Given the description of an element on the screen output the (x, y) to click on. 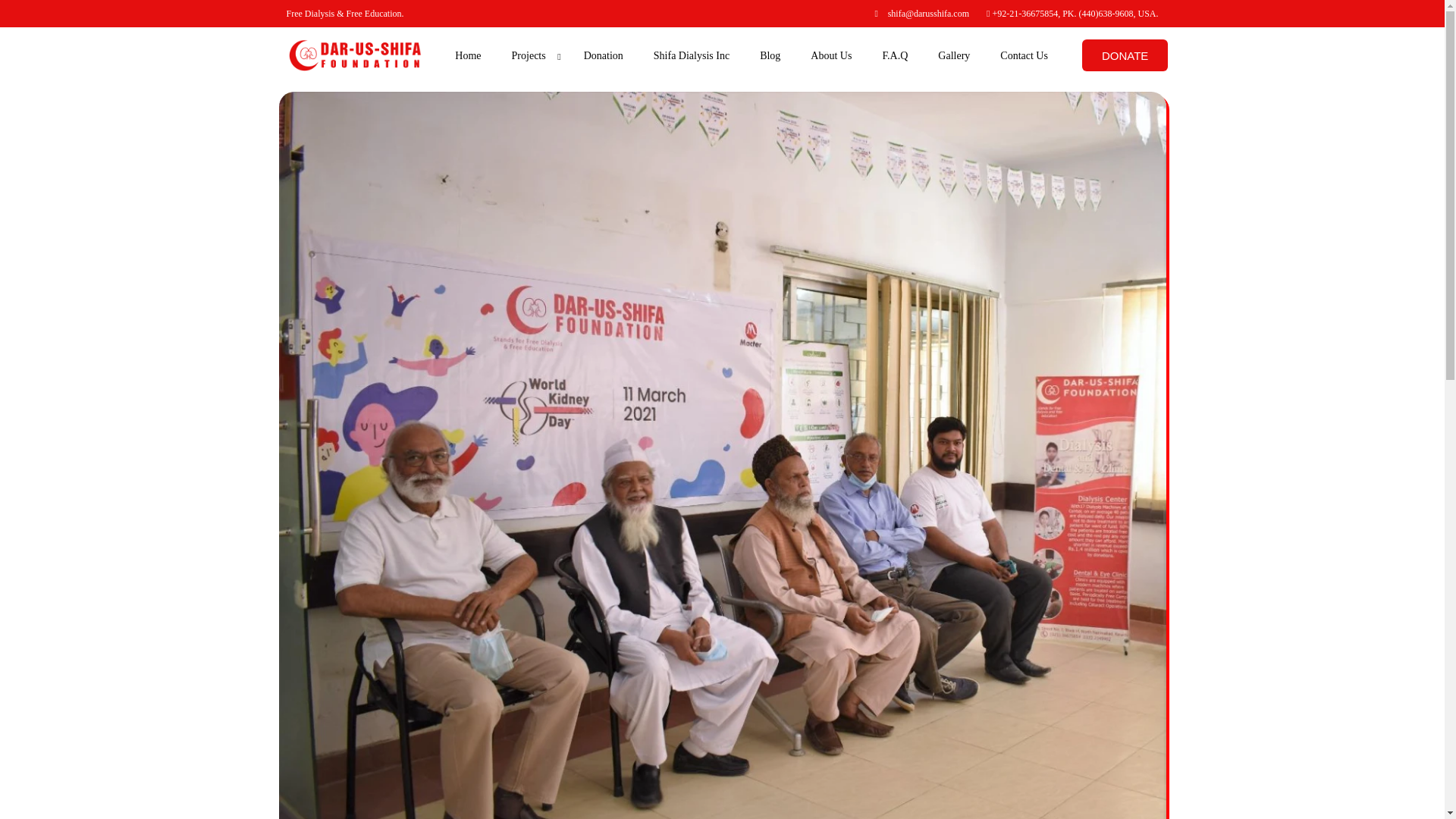
Projects (532, 55)
Blog (769, 55)
Gallery (954, 55)
DONATE (1124, 55)
F.A.Q (894, 55)
About Us (830, 55)
Shifa Dialysis Inc (691, 55)
Donation (604, 55)
Contact Us (1023, 55)
Home (467, 55)
